Given the description of an element on the screen output the (x, y) to click on. 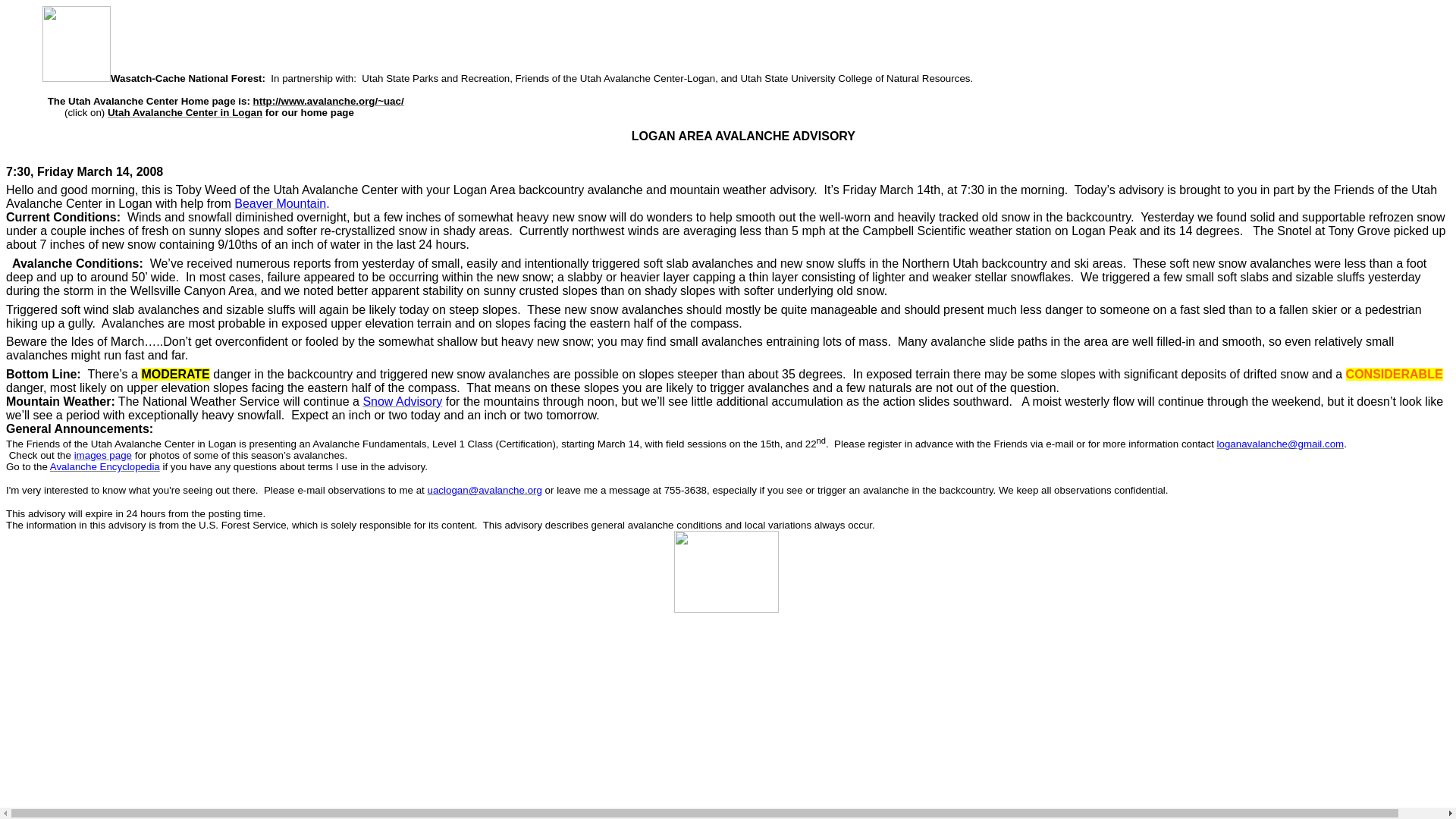
General Announcements:  (81, 428)
Utah Avalanche Center in Logan (184, 112)
Snow Advisory (402, 400)
Beaver Mountain (280, 203)
Avalanche Encyclopedia (104, 465)
images page (103, 454)
